Given the description of an element on the screen output the (x, y) to click on. 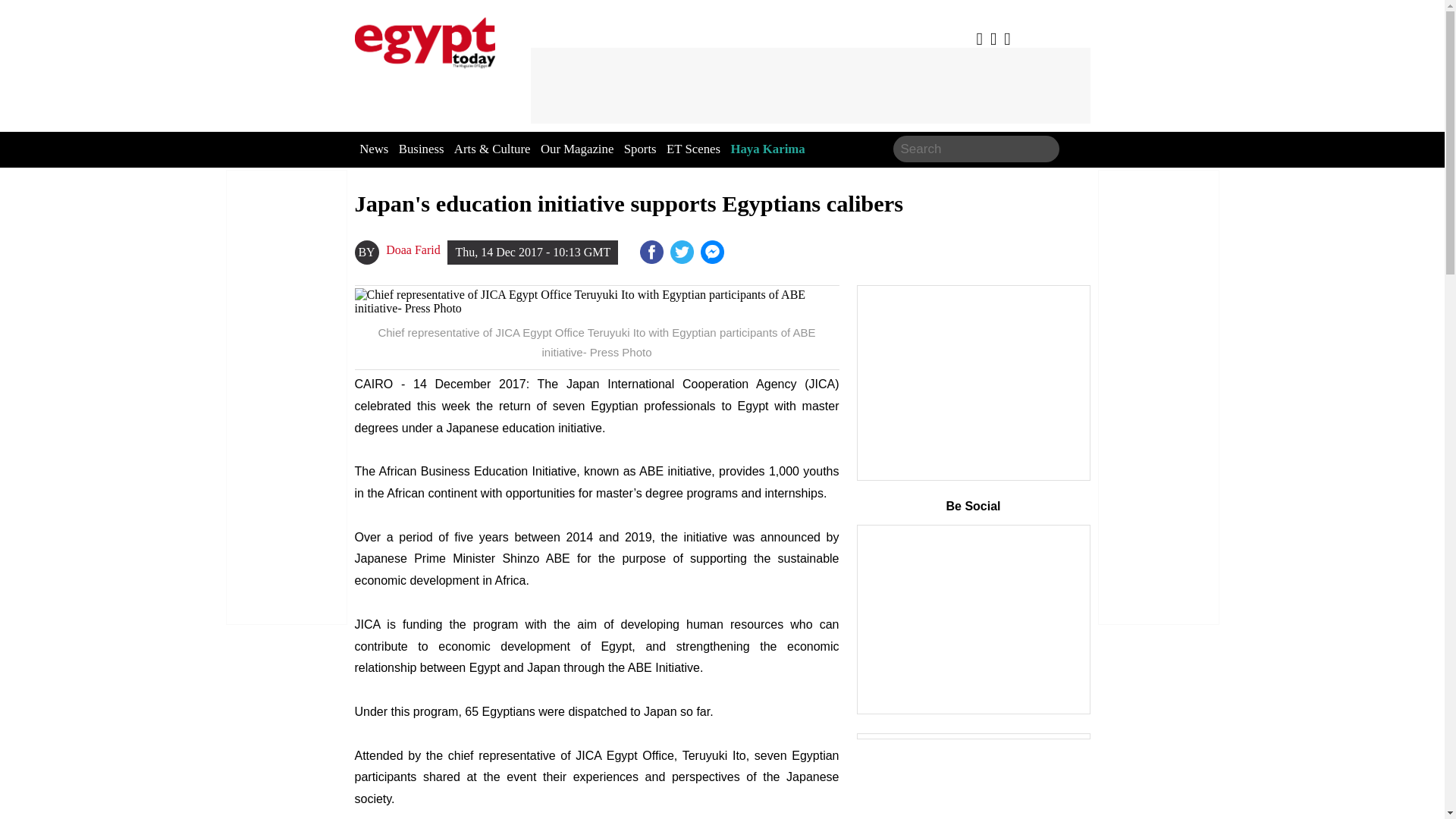
Our Magazine (576, 149)
Sisi heads to Guinea first destination in overseas tour (713, 251)
Business (421, 149)
Sports (640, 149)
EgyptToday (425, 39)
Doaa Farid (413, 250)
Haya Karima (767, 149)
ET Scenes (693, 149)
